Given the description of an element on the screen output the (x, y) to click on. 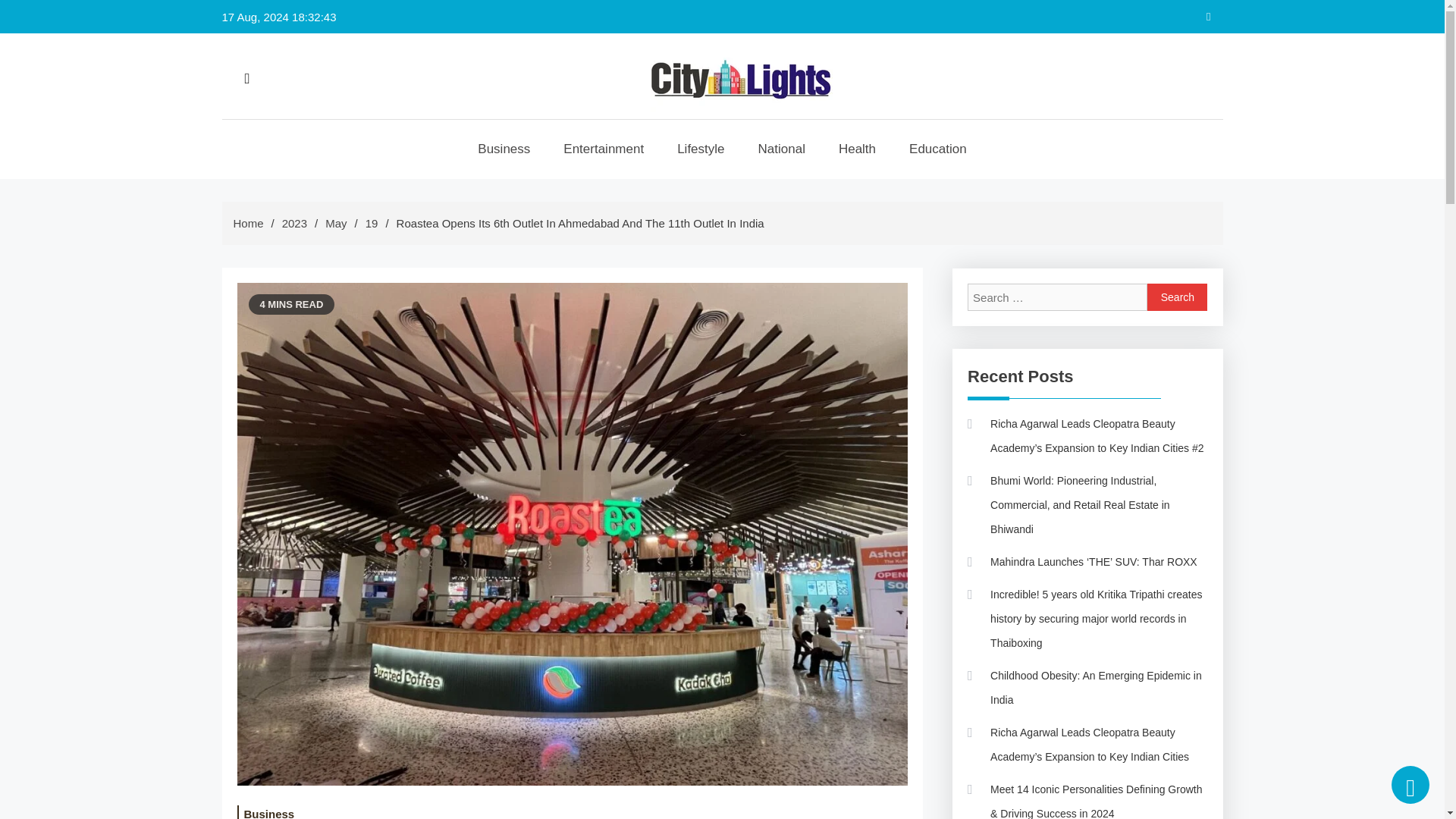
Search (1177, 297)
Business (504, 149)
City Lights (721, 138)
Search (1177, 297)
Business (268, 812)
May (335, 223)
Home (247, 223)
National (781, 149)
19 (371, 223)
